Given the description of an element on the screen output the (x, y) to click on. 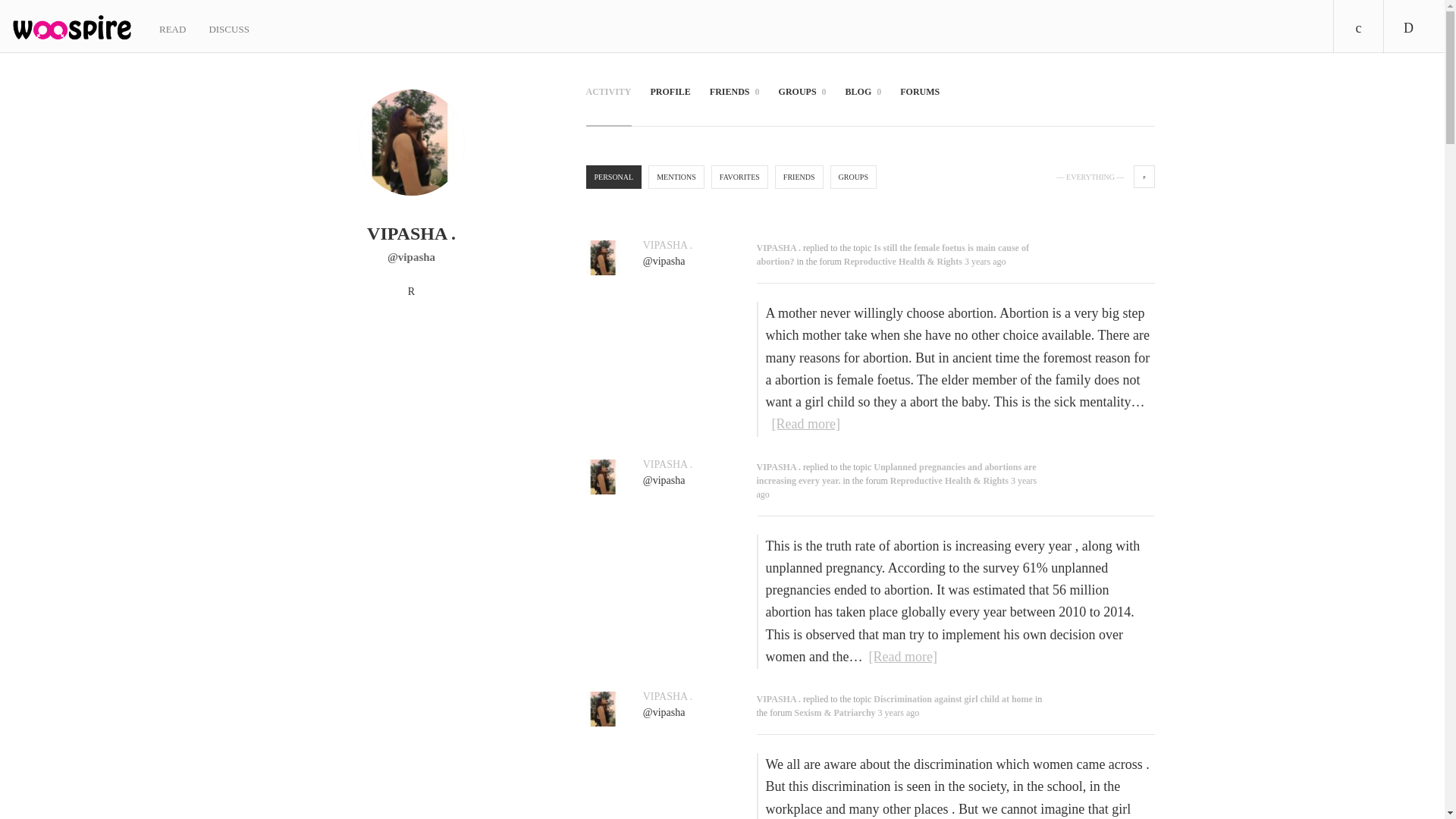
PERSONAL (613, 177)
GROUPS 0 (802, 101)
FRIENDS 0 (735, 101)
ACTIVITY (607, 101)
